Given the description of an element on the screen output the (x, y) to click on. 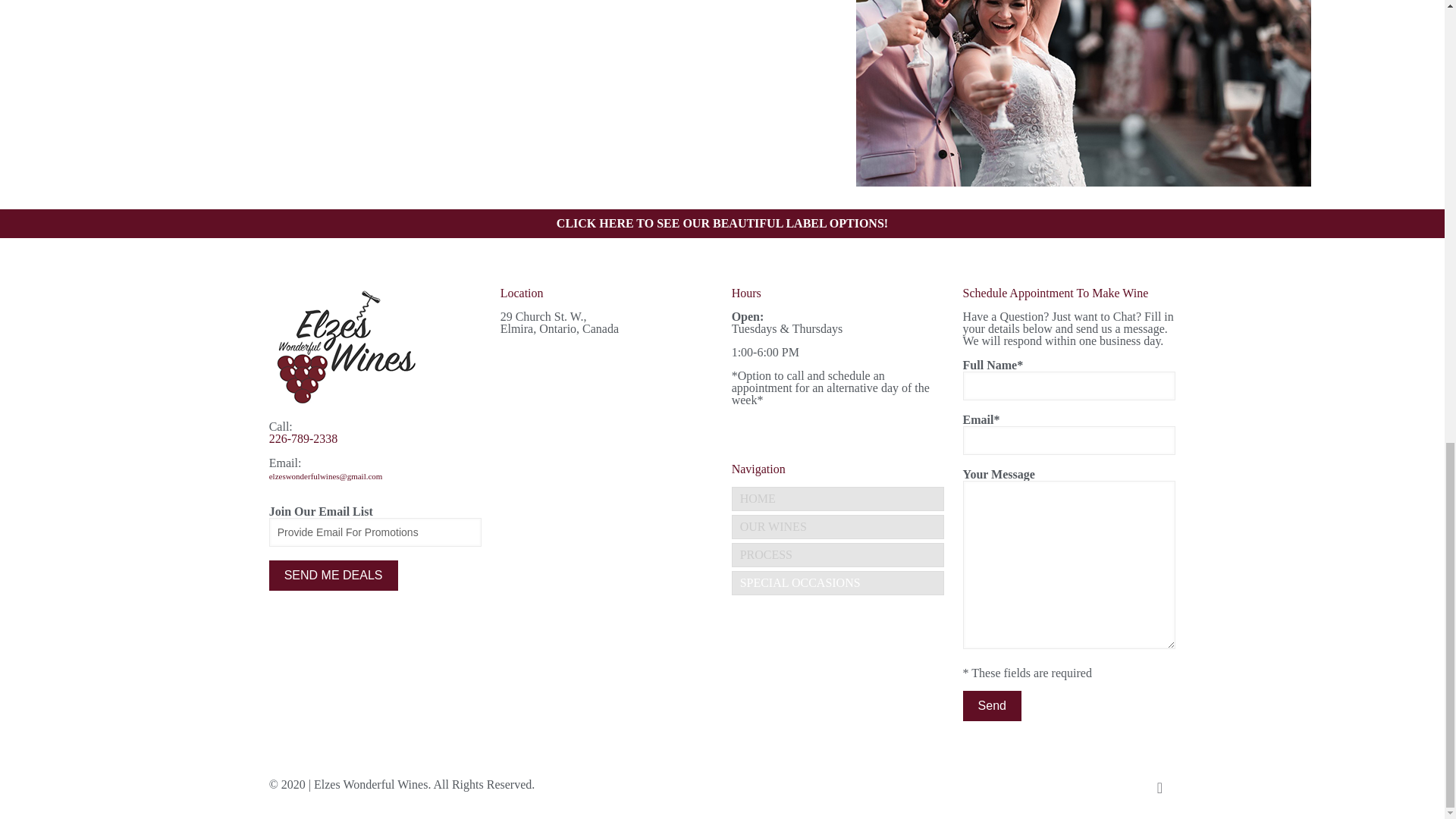
SEND ME DEALS (333, 575)
PROCESS (838, 554)
Send (992, 706)
Facebook (1100, 784)
SEND ME DEALS (333, 575)
brideGroomSm (1083, 93)
OUR WINES (838, 526)
Send (992, 706)
SPECIAL OCCASIONS (838, 582)
Instagram (1120, 784)
